Given the description of an element on the screen output the (x, y) to click on. 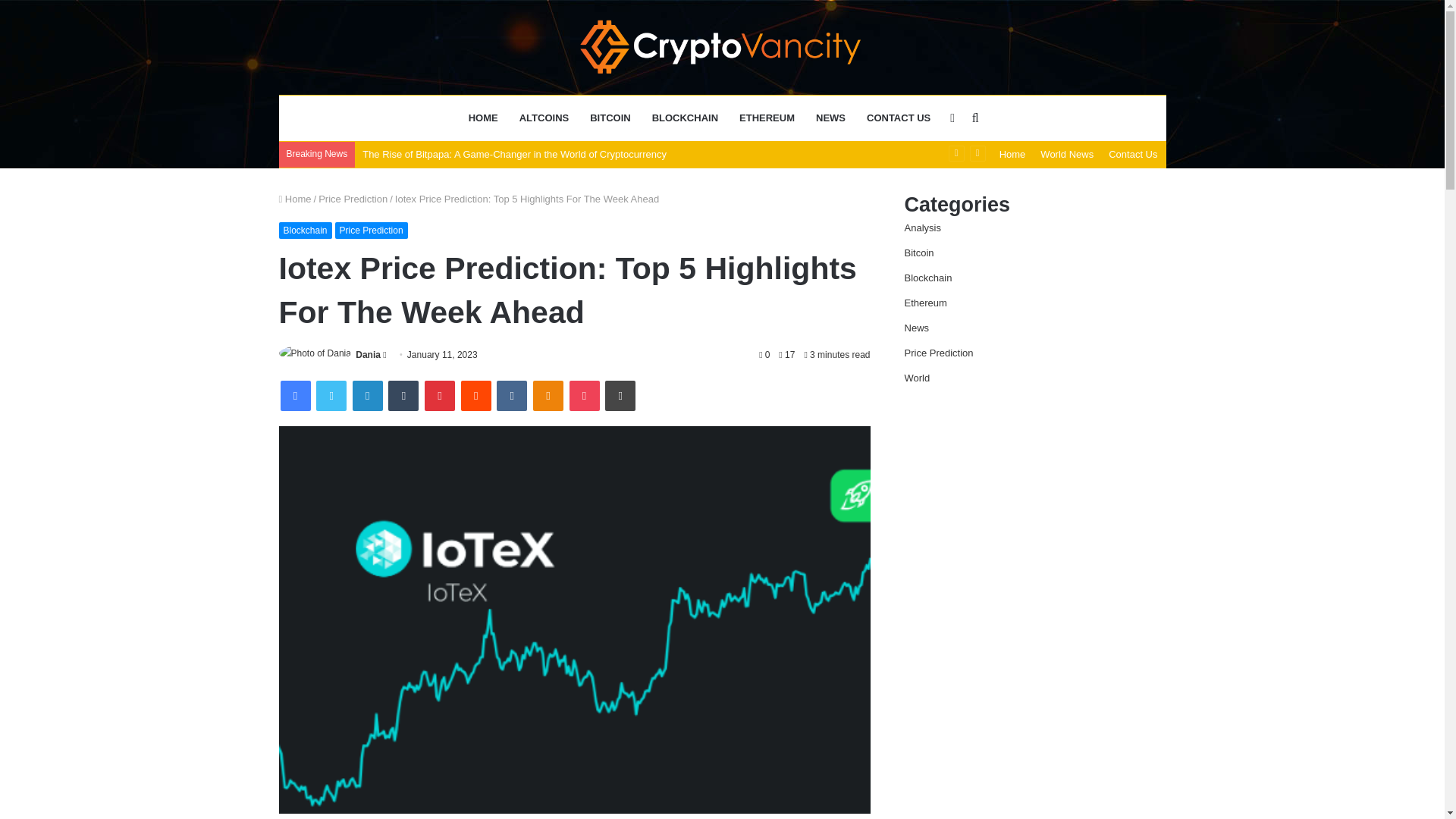
NEWS (830, 117)
CONTACT US (898, 117)
VKontakte (511, 395)
Odnoklassniki (547, 395)
Blockchain (305, 230)
Twitter (330, 395)
Print (619, 395)
Pinterest (439, 395)
BLOCKCHAIN (685, 117)
ALTCOINS (543, 117)
Tumblr (403, 395)
Price Prediction (352, 198)
Facebook (296, 395)
BITCOIN (609, 117)
Contact Us (1132, 153)
